Given the description of an element on the screen output the (x, y) to click on. 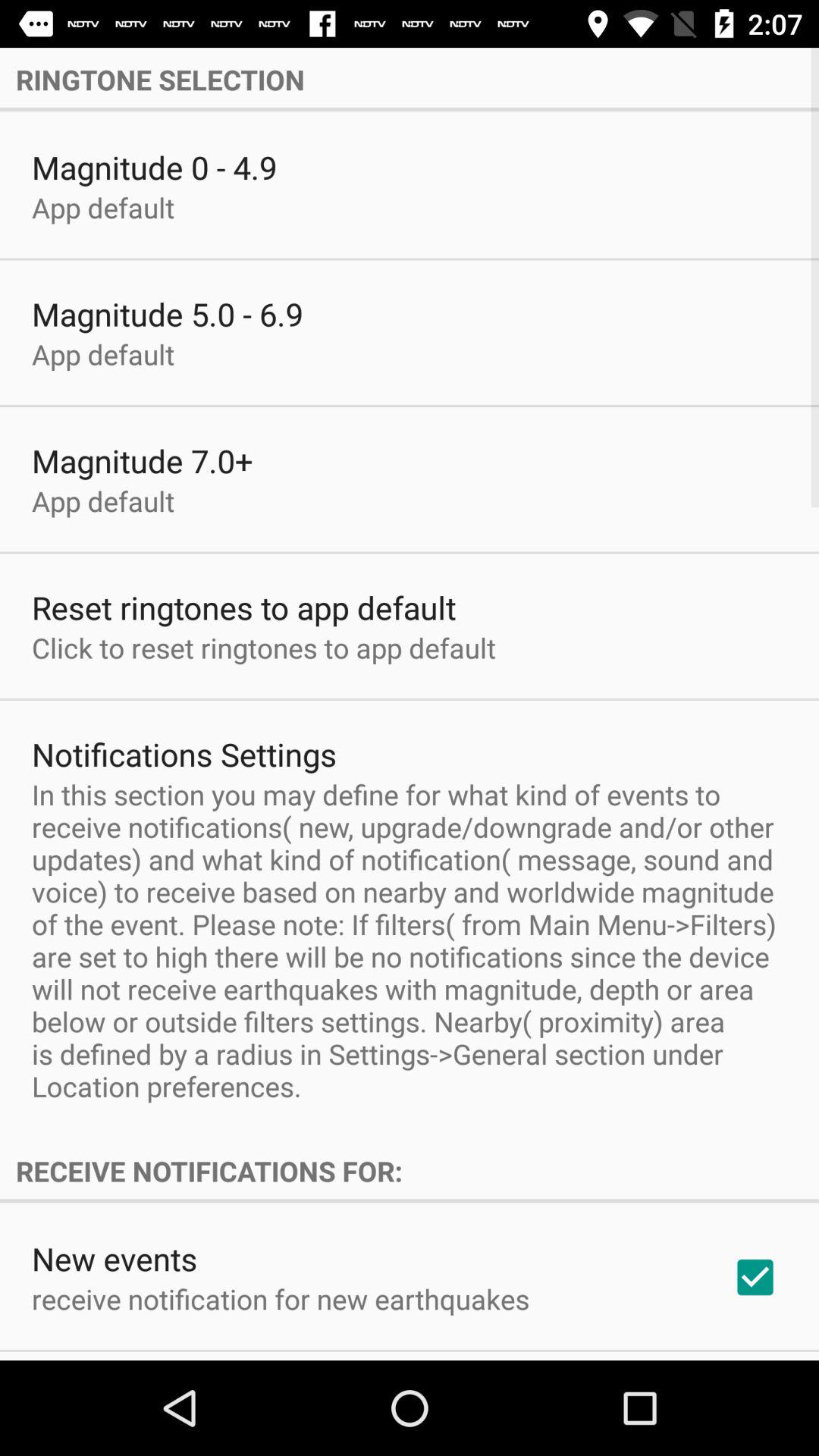
tap app below the notifications settings item (409, 940)
